Given the description of an element on the screen output the (x, y) to click on. 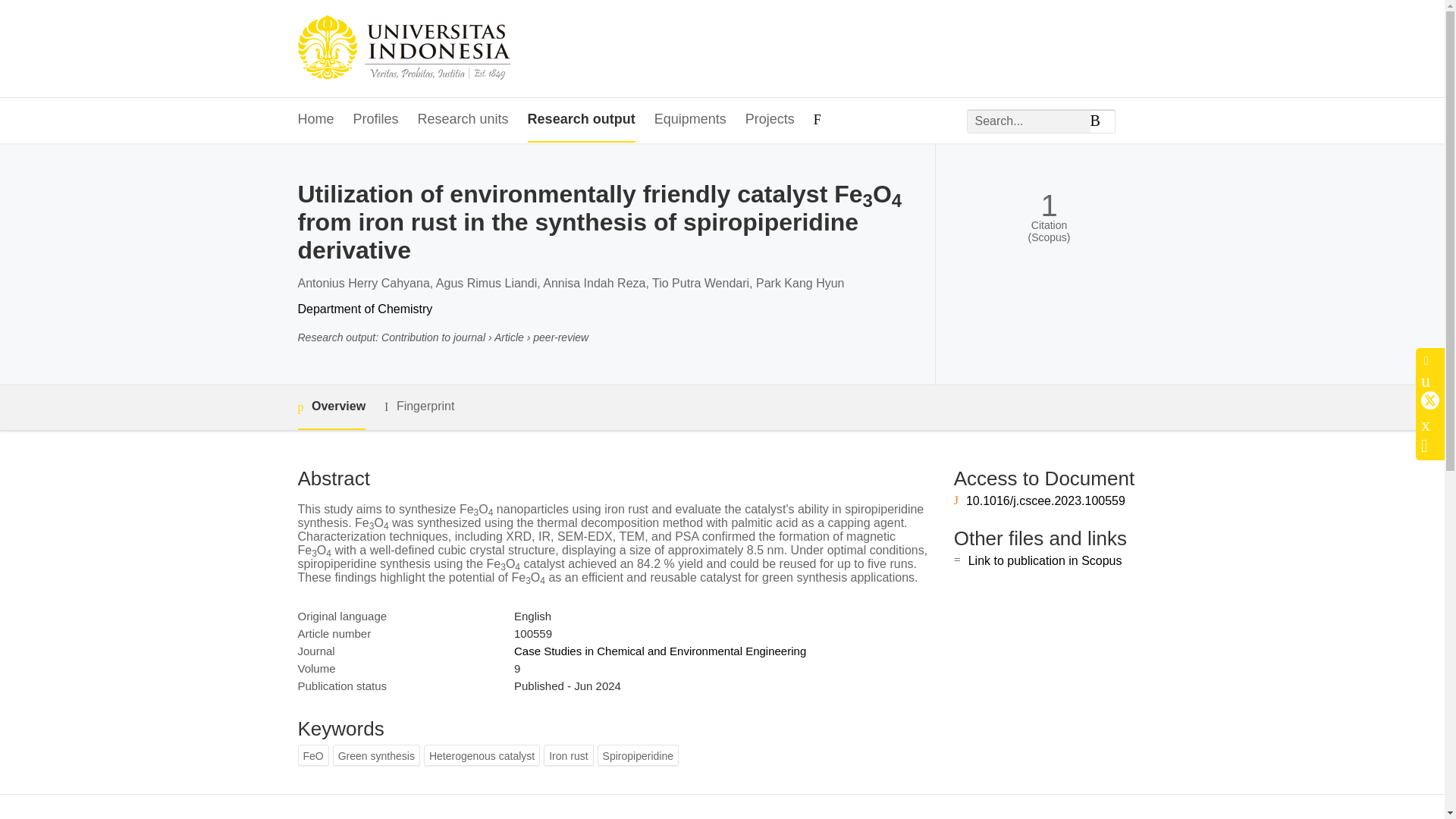
Research units (462, 119)
Department of Chemistry (364, 308)
Research output (580, 119)
Universitas Indonesia Home (403, 48)
Profiles (375, 119)
Equipments (689, 119)
Overview (331, 406)
Case Studies in Chemical and Environmental Engineering (659, 650)
Link to publication in Scopus (1045, 560)
